Given the description of an element on the screen output the (x, y) to click on. 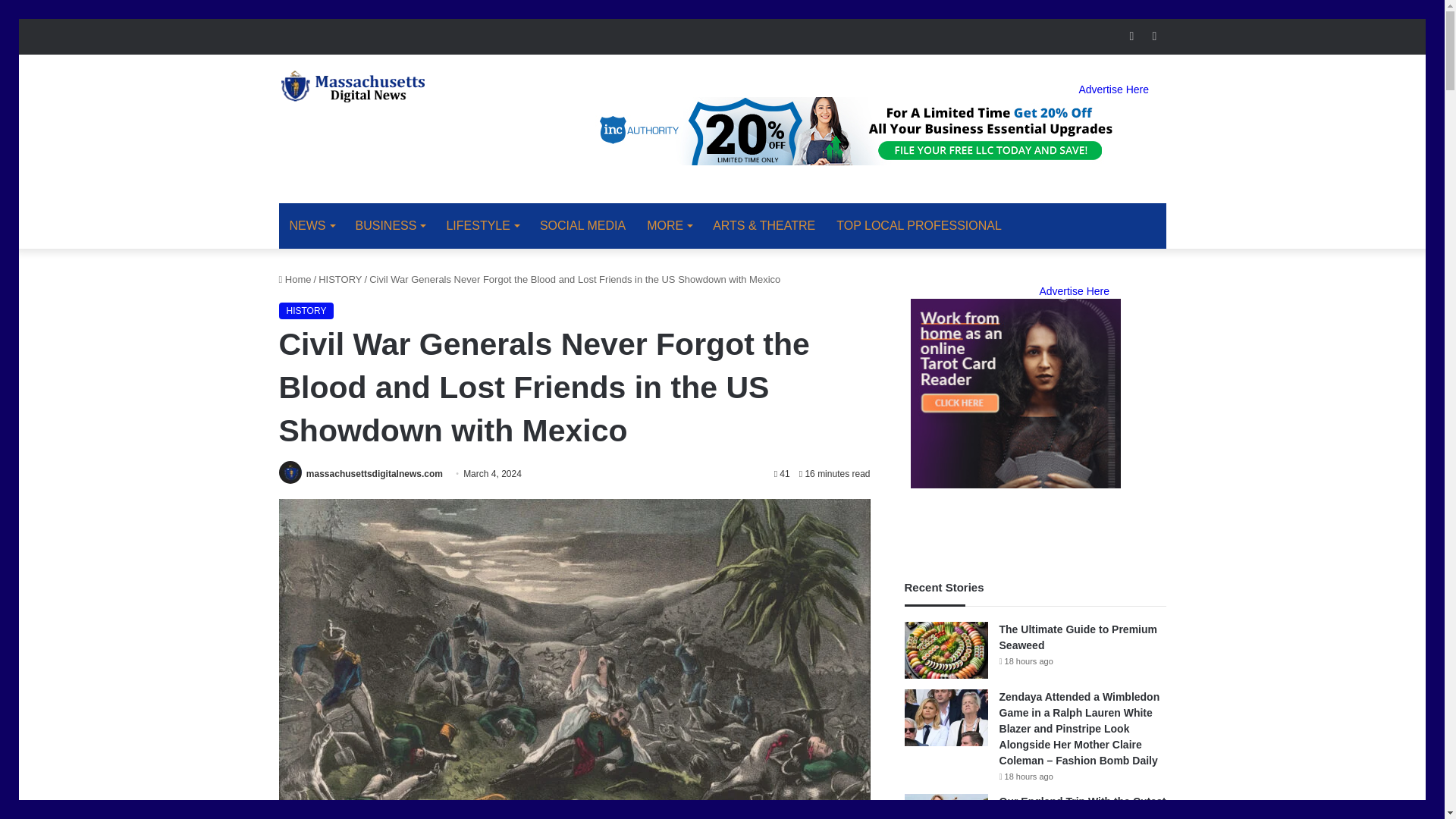
NEWS (312, 225)
BUSINESS (389, 225)
TOP LOCAL PROFESSIONAL (918, 225)
HISTORY (306, 310)
MORE (668, 225)
massachusettsdigitalnews.com (373, 473)
SOCIAL MEDIA (582, 225)
Home (295, 278)
massachusettsdigitalnews.com (373, 473)
massachusetts digital news (354, 85)
HISTORY (339, 278)
LIFESTYLE (481, 225)
